Given the description of an element on the screen output the (x, y) to click on. 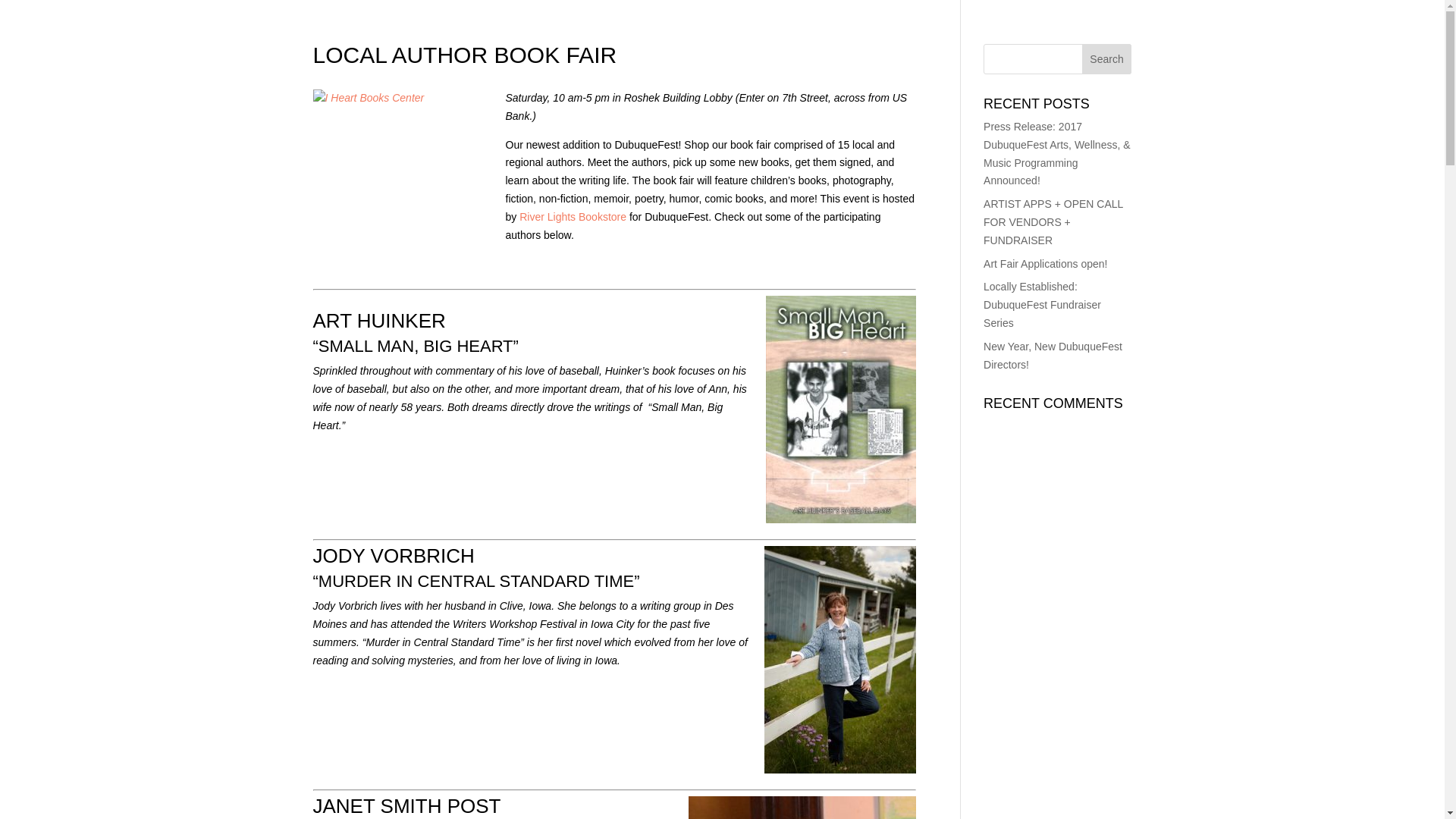
ABOUT (1210, 50)
Search (1106, 59)
River Lights Bookstore (572, 216)
Search (1106, 59)
Locally Established: DubuqueFest Fundraiser Series (1042, 304)
River Lights Bookstore (572, 216)
EXPERIENCE (1100, 50)
GET INVOLVED (1326, 50)
Art Fair Applications open! (1045, 263)
New Year, New DubuqueFest Directors! (1053, 355)
